Given the description of an element on the screen output the (x, y) to click on. 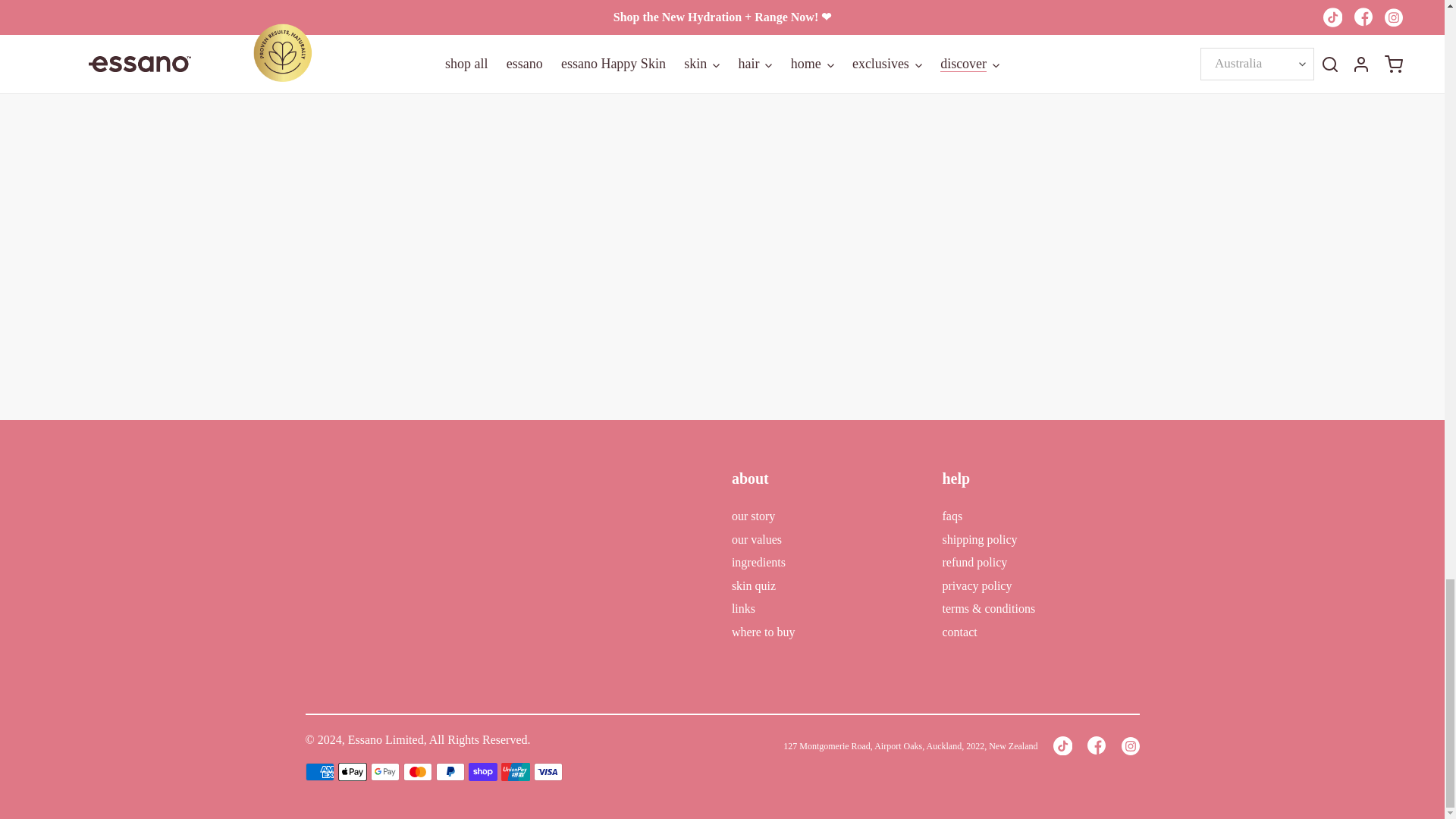
Apple Pay (351, 771)
American Express (318, 771)
Shop Pay (482, 771)
Mastercard (417, 771)
Google Pay (383, 771)
PayPal (449, 771)
